Given the description of an element on the screen output the (x, y) to click on. 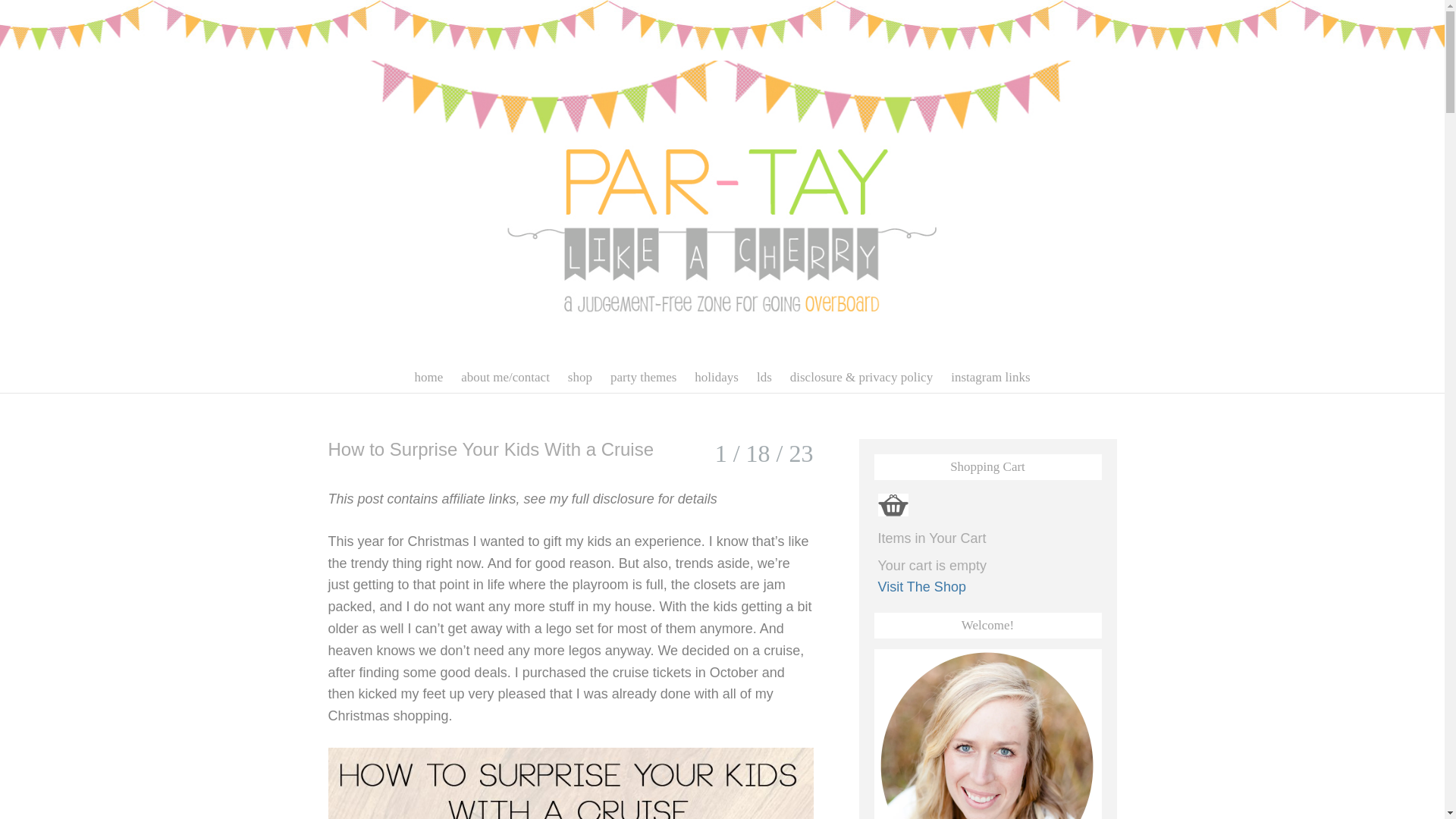
shop (580, 377)
Shopping Cart (892, 504)
skip to content (313, 370)
Welcome! (986, 734)
home (427, 377)
party themes (643, 377)
instagram links (990, 377)
holidays (716, 377)
Shopping Cart (892, 504)
lds (764, 377)
